Given the description of an element on the screen output the (x, y) to click on. 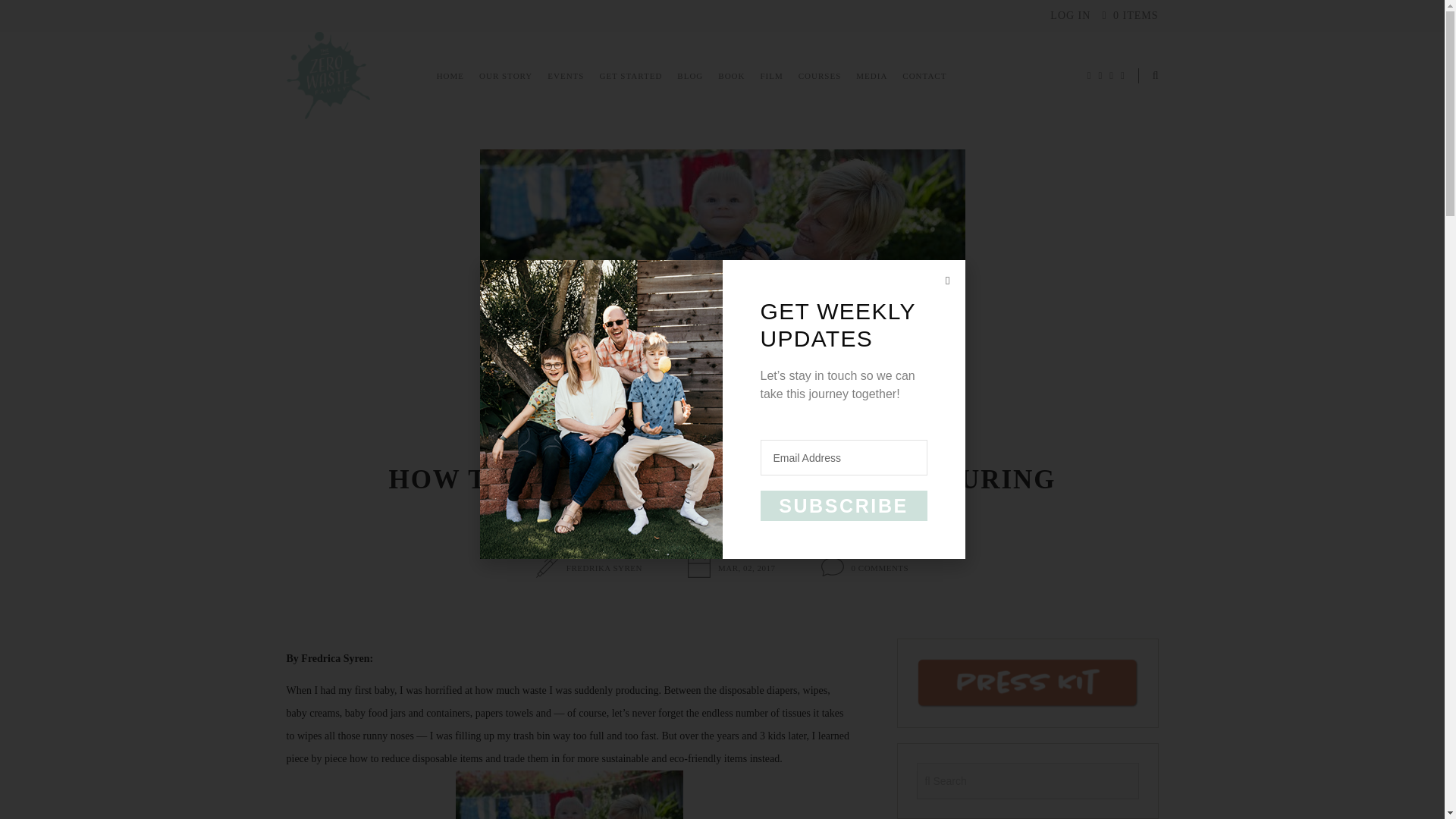
View your shopping cart (1129, 15)
Log In (1069, 15)
